Given the description of an element on the screen output the (x, y) to click on. 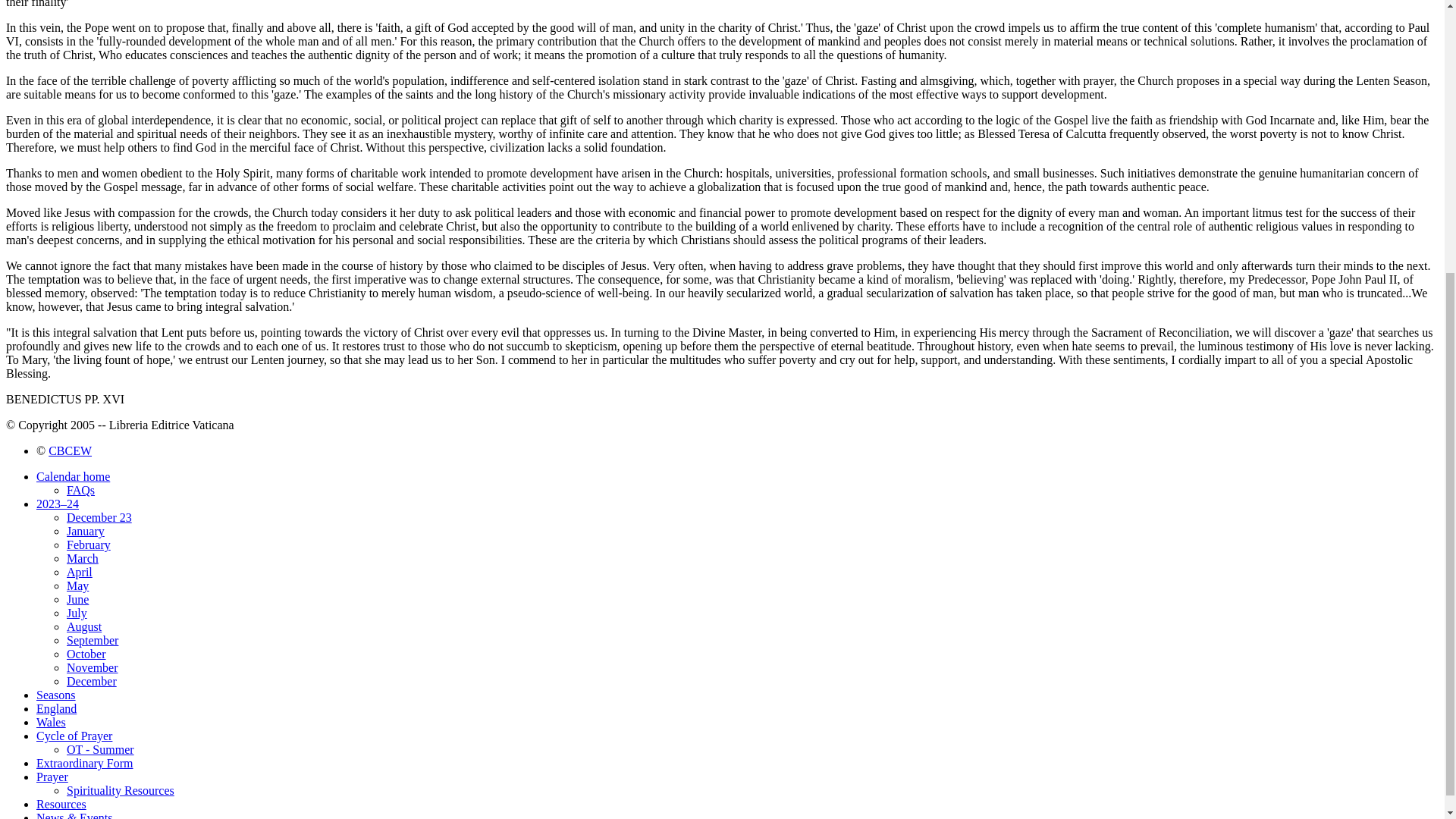
May (77, 585)
August (83, 626)
Cycle of Prayer (74, 735)
Wales (50, 721)
June (77, 599)
November (91, 667)
January (85, 530)
Calendar home (73, 476)
Seasons (55, 694)
December 23 (99, 517)
Prayer (52, 776)
July (76, 612)
February (88, 544)
March (82, 558)
Extraordinary Form (84, 762)
